Given the description of an element on the screen output the (x, y) to click on. 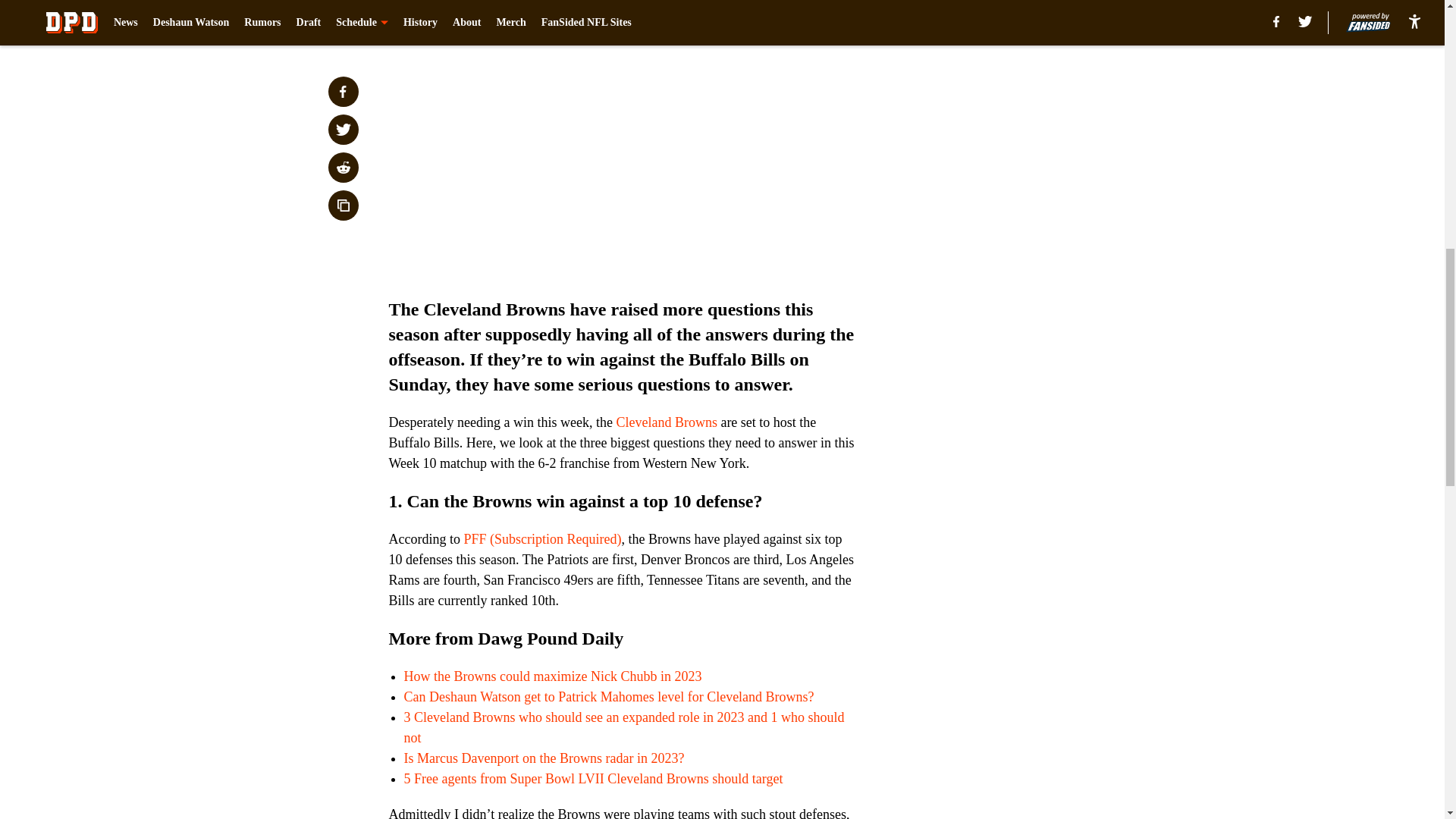
Is Marcus Davenport on the Browns radar in 2023? (543, 758)
How the Browns could maximize Nick Chubb in 2023 (552, 676)
Cleveland Browns (665, 421)
